Given the description of an element on the screen output the (x, y) to click on. 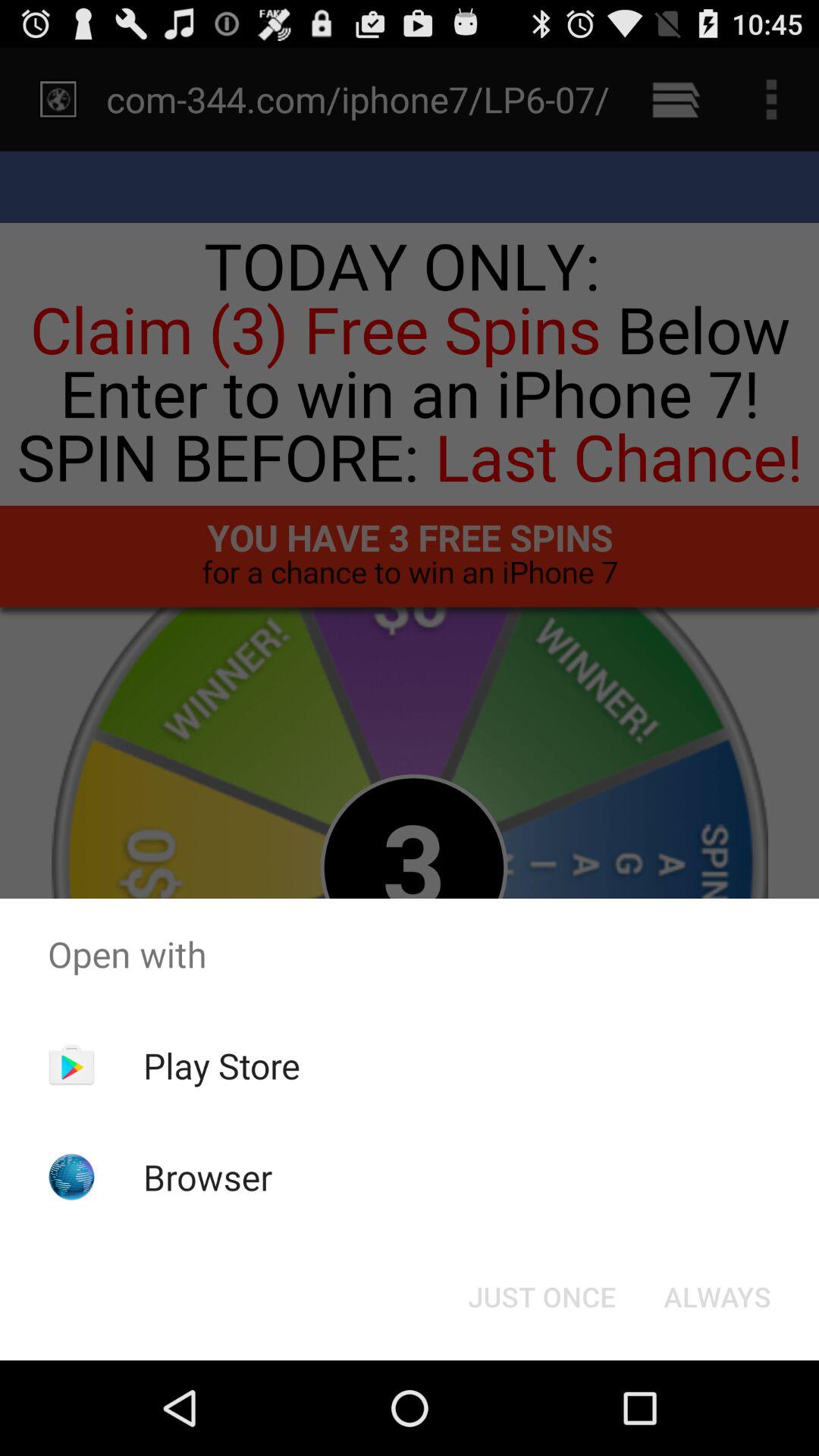
select the button at the bottom right corner (717, 1296)
